Given the description of an element on the screen output the (x, y) to click on. 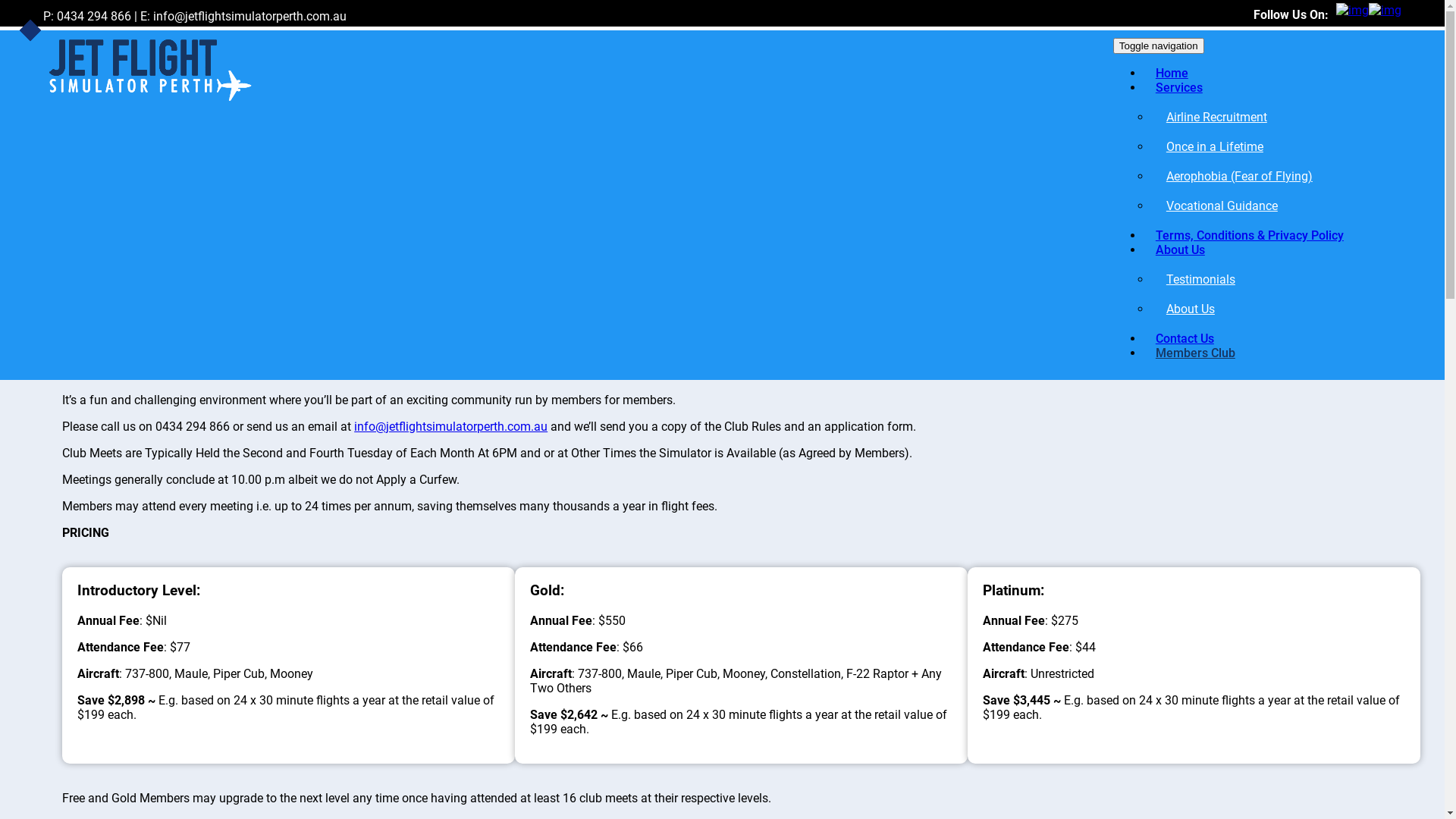
Vocational Guidance Element type: text (1272, 205)
Home Element type: text (1171, 72)
Testimonials Element type: text (1272, 279)
Terms, Conditions & Privacy Policy Element type: text (1249, 235)
Flight Experience - Dreamliner Experience Element type: text (148, 71)
Toggle navigation Element type: text (1158, 45)
Once in a Lifetime Element type: text (1272, 146)
Aerophobia (Fear of Flying) Element type: text (1272, 176)
Services Element type: text (1178, 87)
info@jetflightsimulatorperth.com.au Element type: text (450, 426)
Contact Us Element type: text (1184, 338)
Members Club Element type: text (1195, 352)
About Us Element type: text (1180, 249)
About Us Element type: text (1272, 308)
BUY NOW Element type: text (1082, 140)
Airline Recruitment Element type: text (1272, 116)
THE EXPERIENCE Element type: text (361, 140)
